Given the description of an element on the screen output the (x, y) to click on. 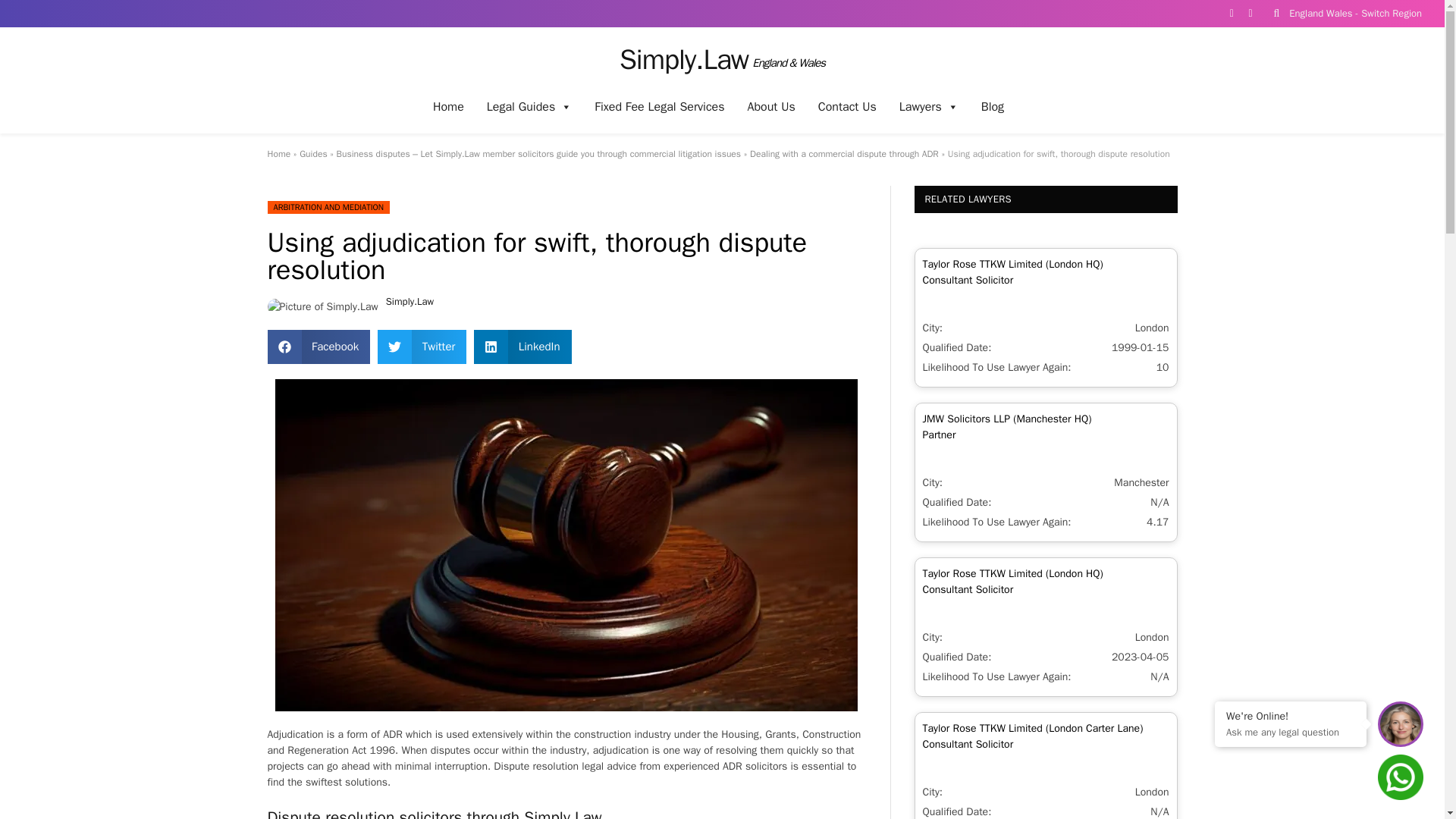
Ask me any legal question (1290, 731)
Simply Law England Wales (722, 59)
We're Online! (1290, 716)
